Given the description of an element on the screen output the (x, y) to click on. 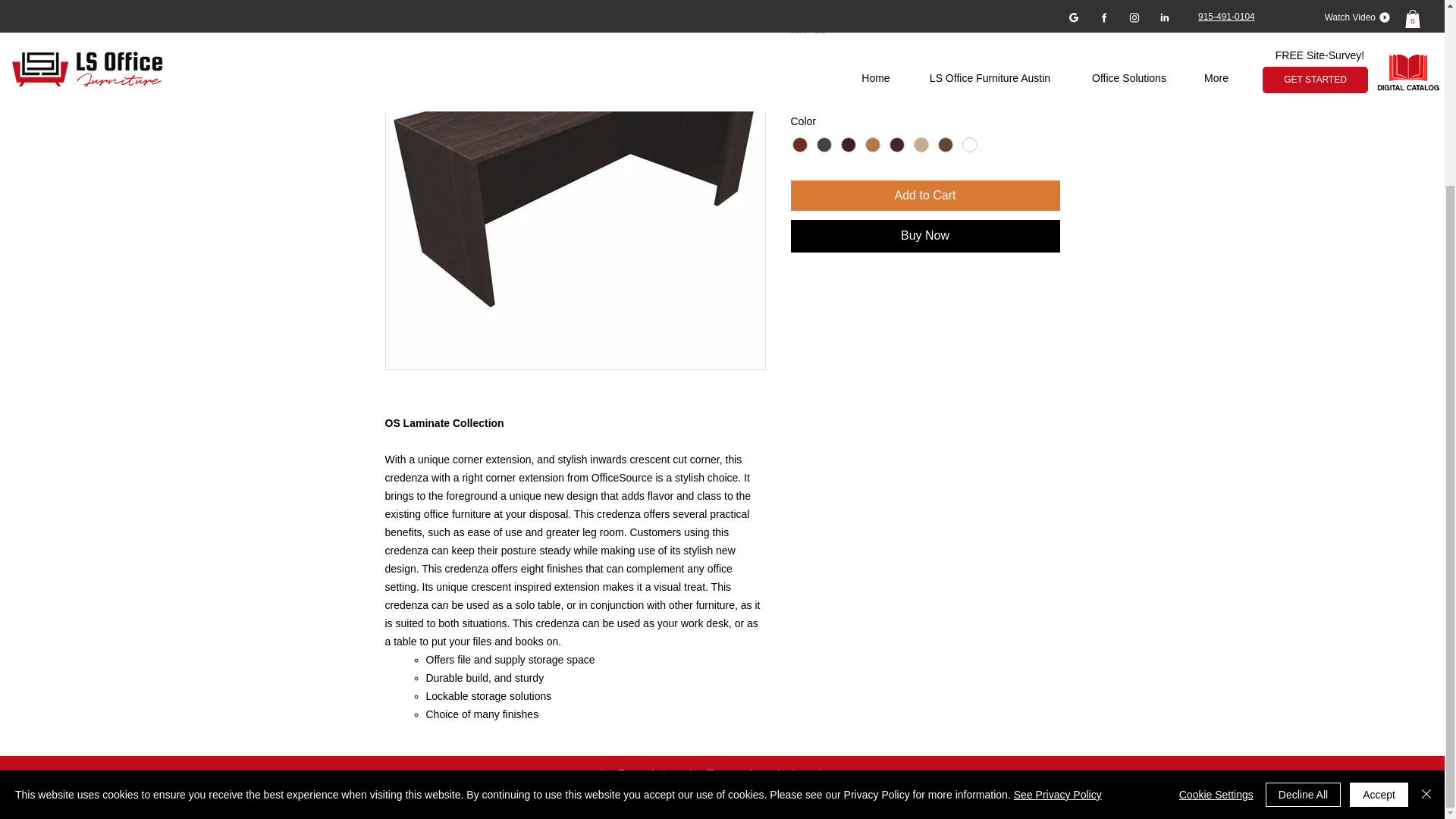
Terms of Use (971, 798)
Privacy Policy (893, 798)
Contact Us (853, 774)
Home (578, 774)
Add to Cart (924, 195)
Buy Now (924, 235)
El Paso (760, 798)
Office Furniture (733, 774)
915-491-0104 (815, 798)
See Privacy Policy (1057, 564)
